Given the description of an element on the screen output the (x, y) to click on. 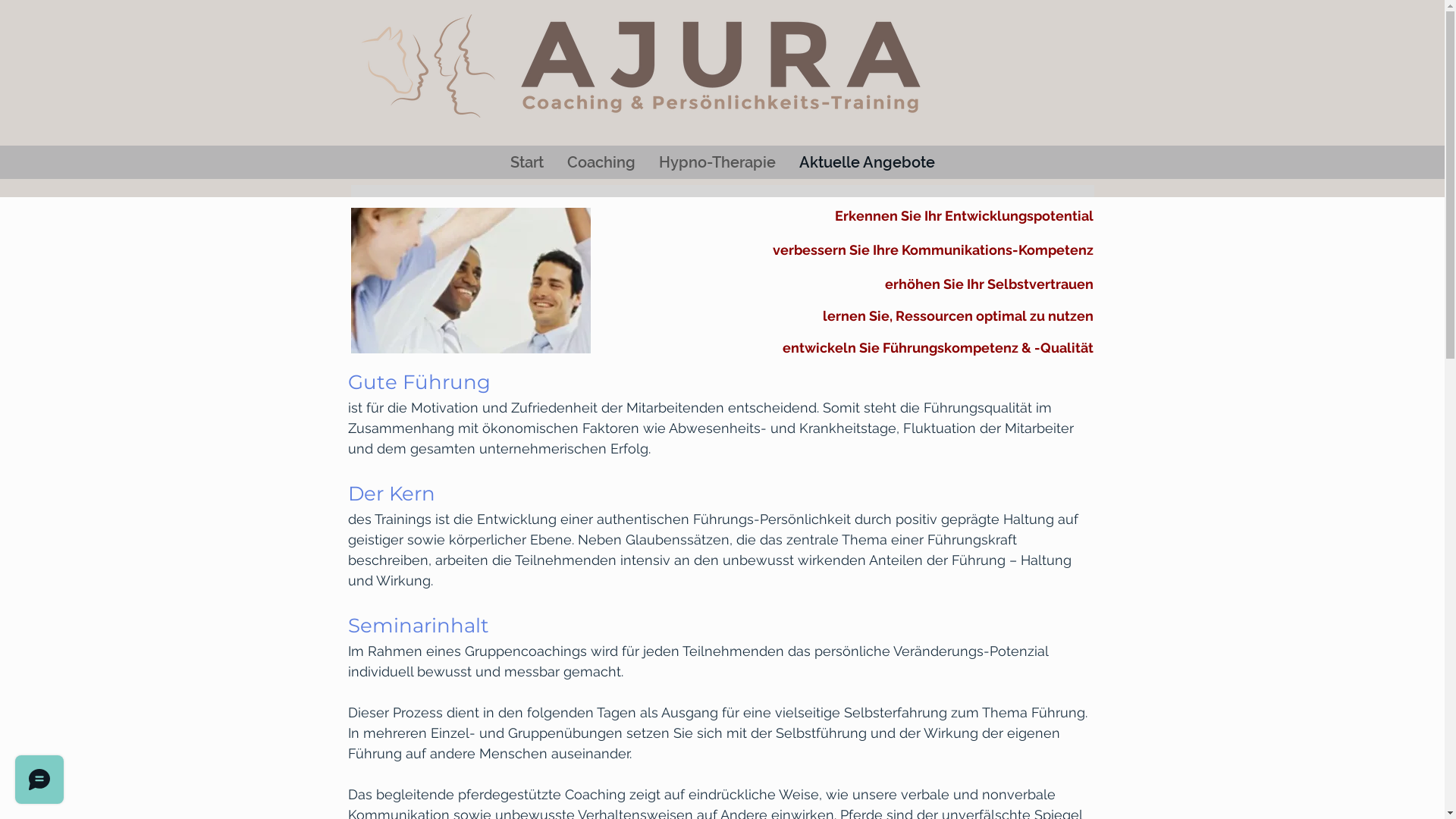
Aktuelle Angebote Element type: text (866, 161)
Banner.png Element type: hover (644, 65)
Start Element type: text (526, 161)
